Given the description of an element on the screen output the (x, y) to click on. 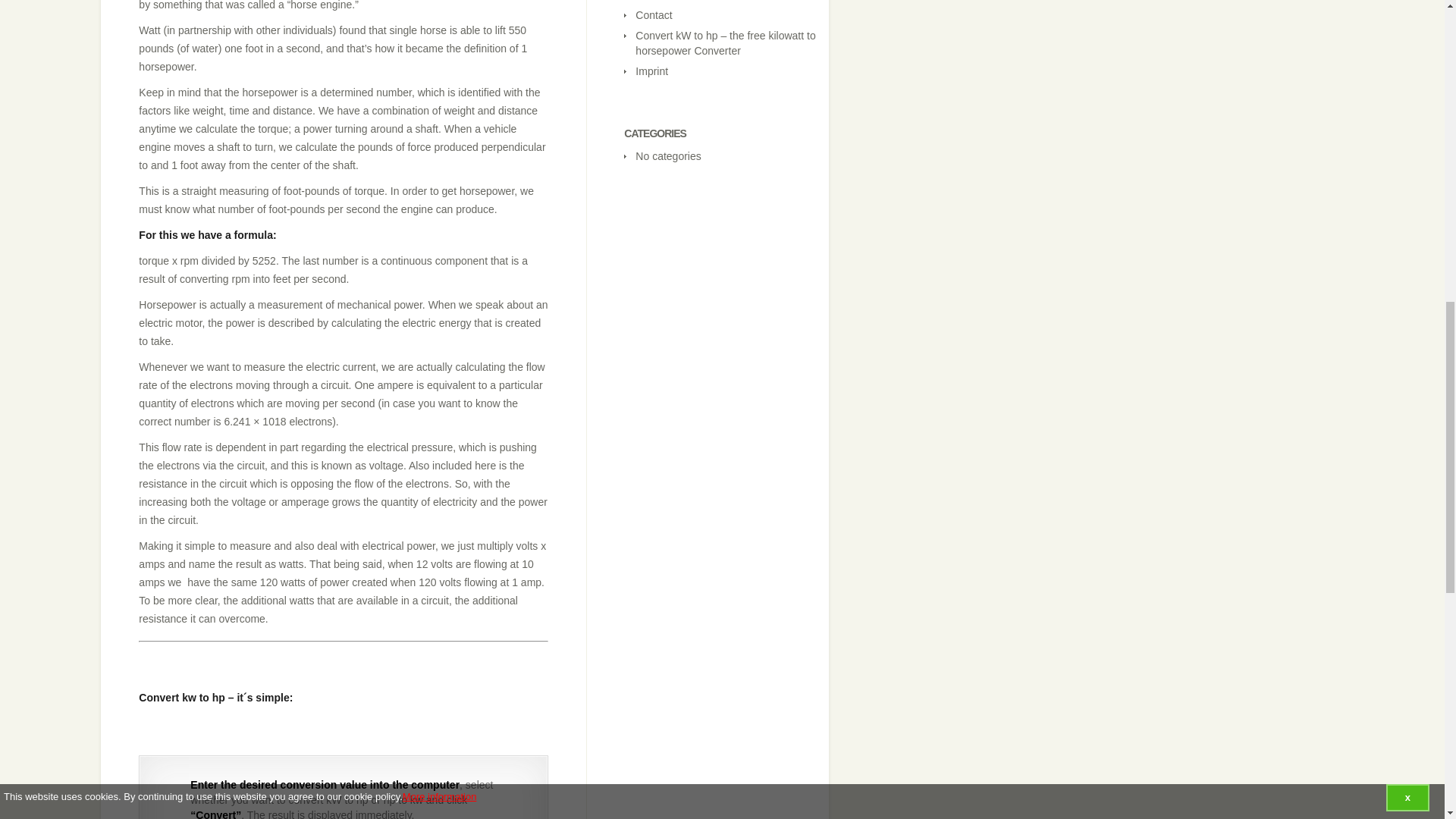
Advertisement (414, 677)
